Given the description of an element on the screen output the (x, y) to click on. 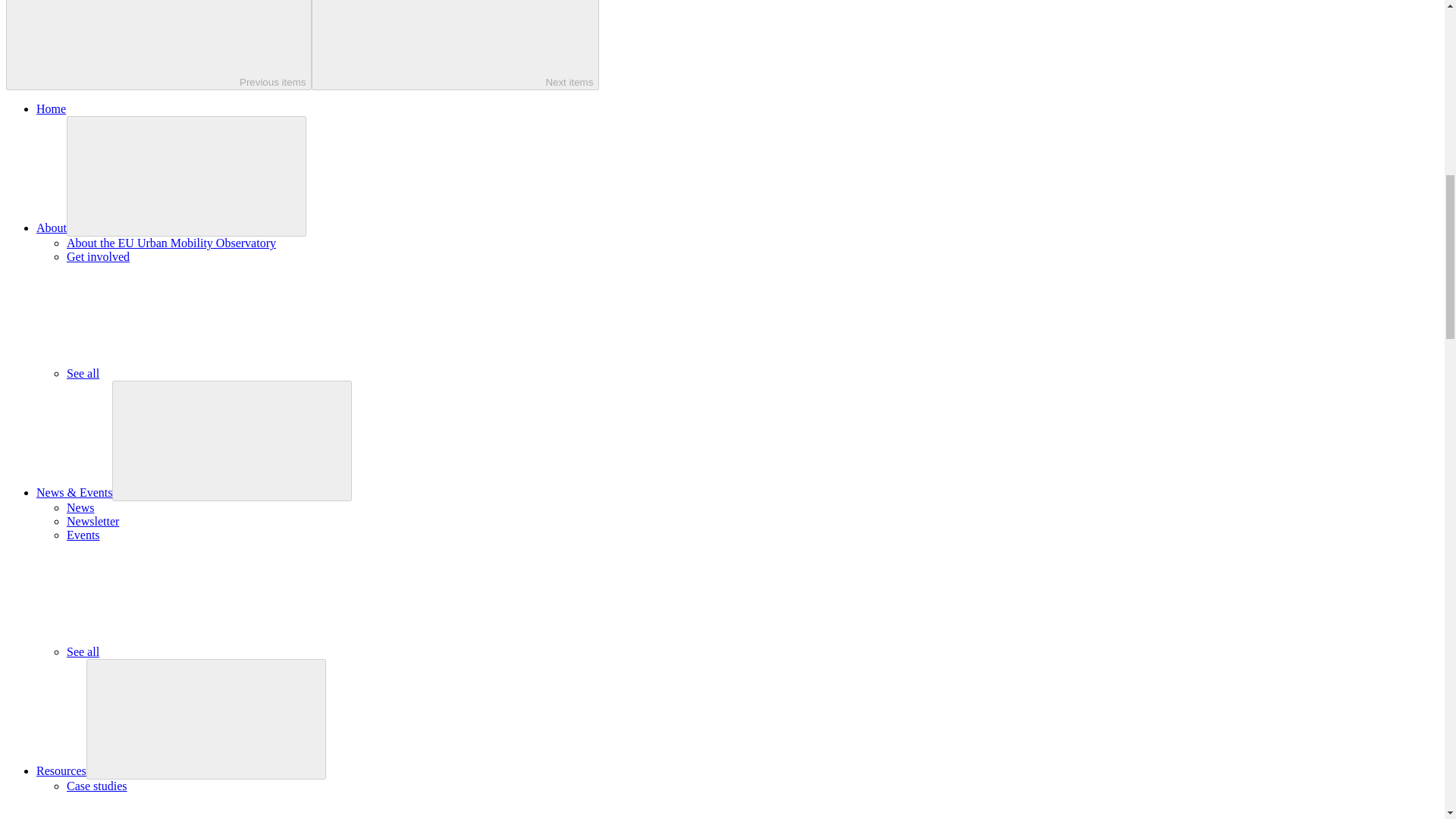
Home (50, 108)
About the EU Urban Mobility Observatory (171, 242)
Case studies (97, 785)
Get involved (97, 256)
Events (83, 534)
Resources (60, 770)
See all (196, 651)
Next items (454, 45)
Previous items (158, 45)
Newsletter (92, 521)
